Given the description of an element on the screen output the (x, y) to click on. 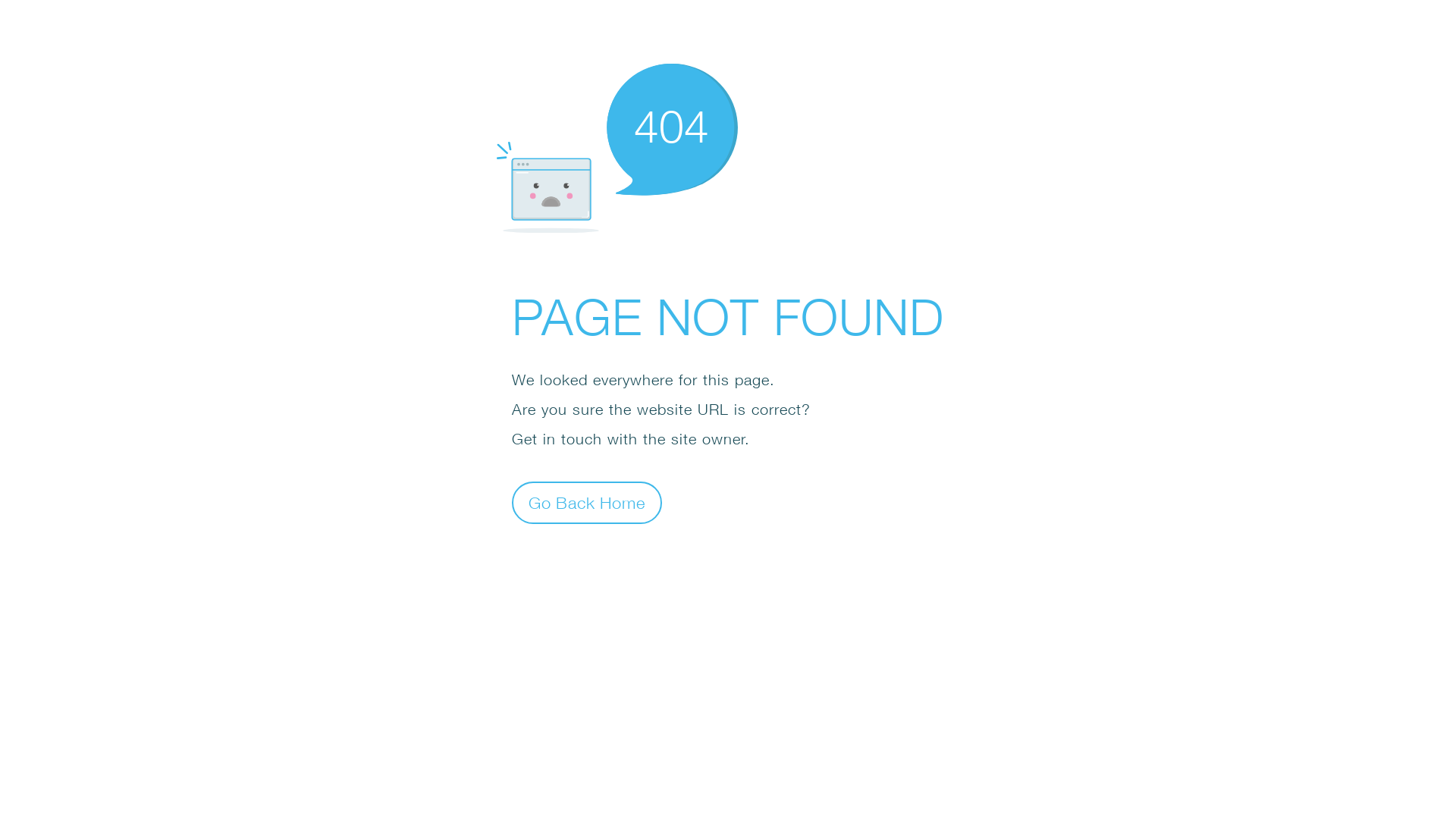
Go Back Home Element type: text (586, 502)
